Given the description of an element on the screen output the (x, y) to click on. 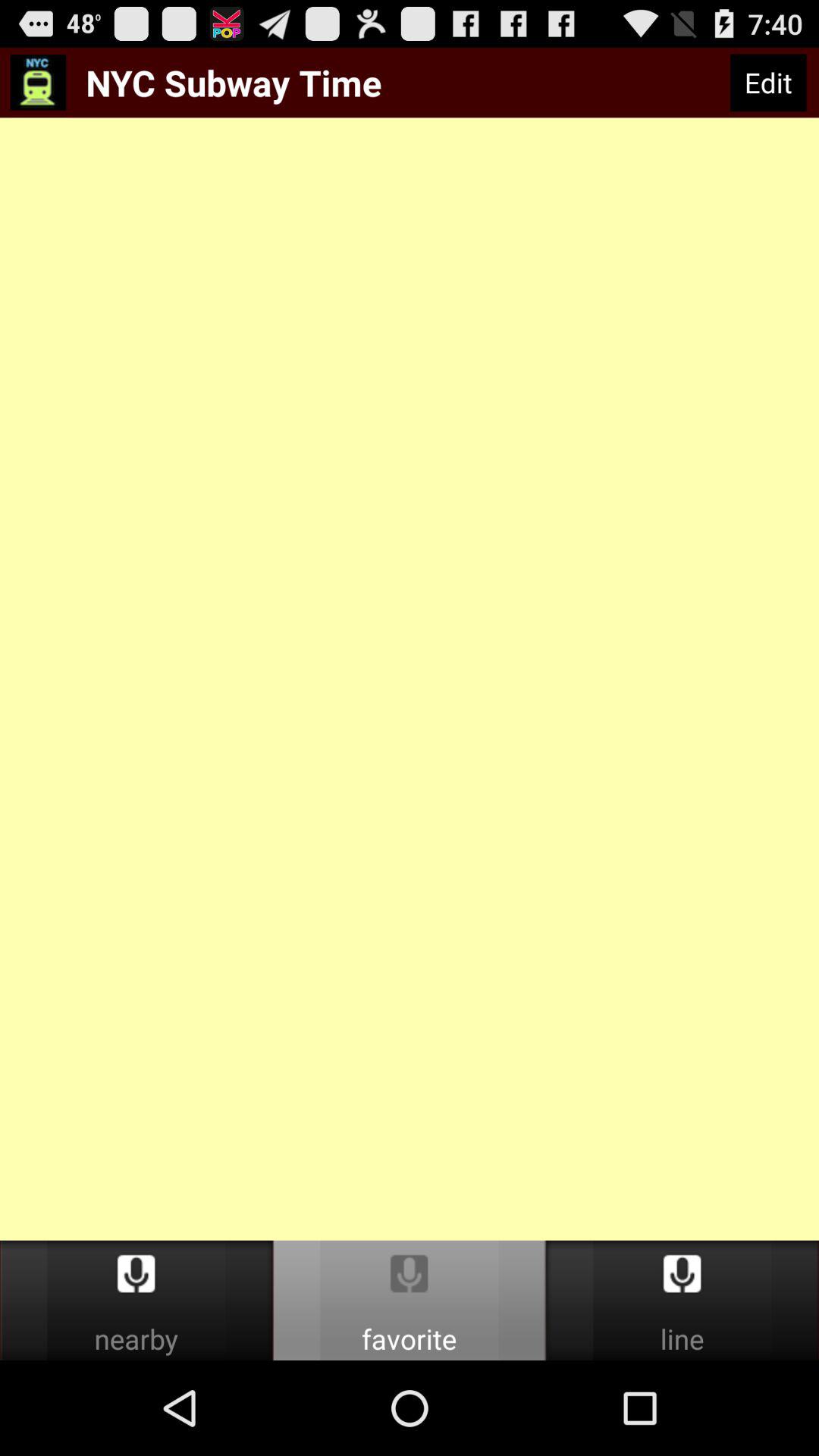
select the edit button (768, 82)
